Given the description of an element on the screen output the (x, y) to click on. 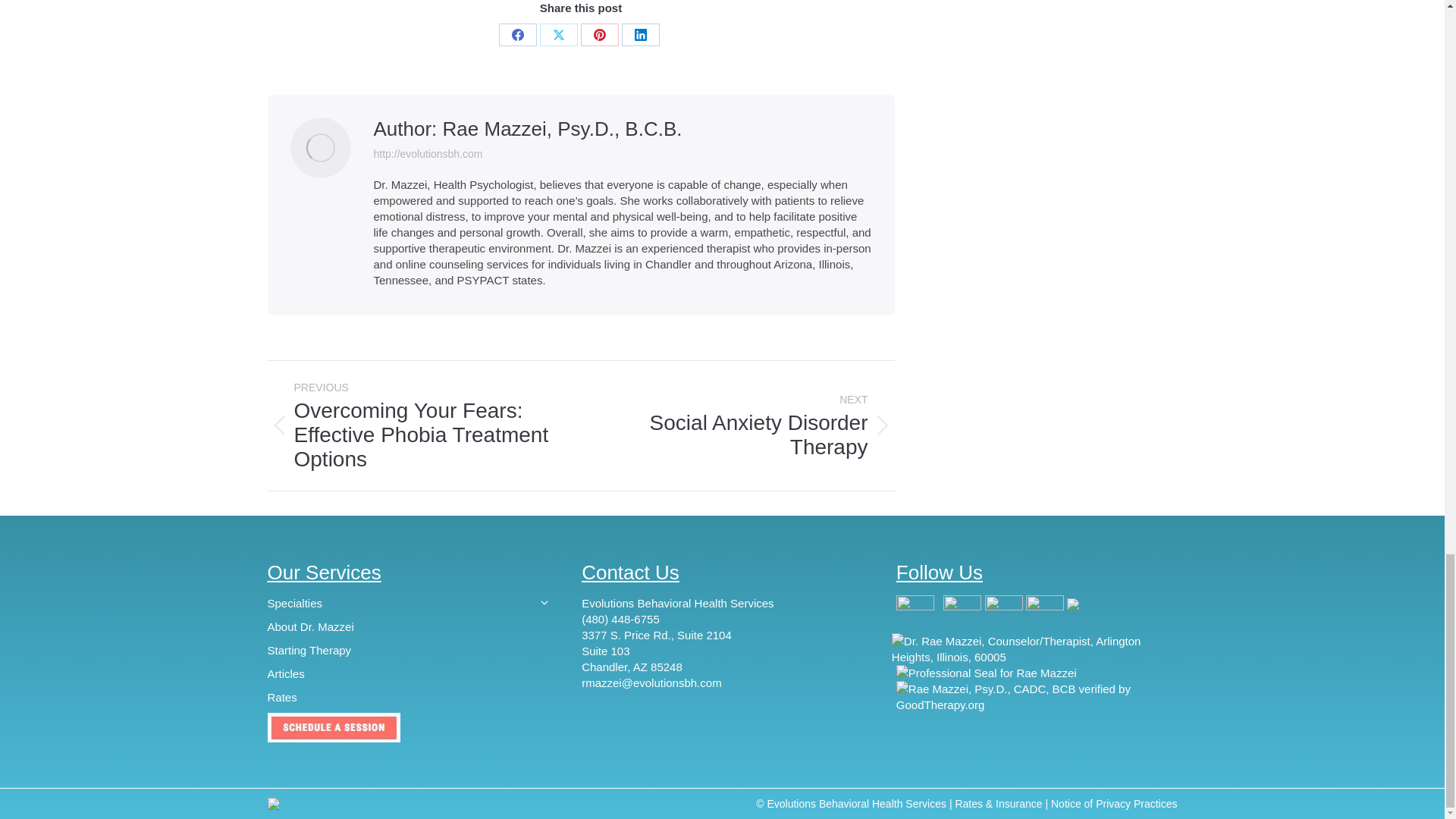
LinkedIn (640, 34)
X (559, 34)
Facebook (518, 34)
Theravive Seal for Rae Mazzei (986, 672)
Pinterest (599, 34)
